Given the description of an element on the screen output the (x, y) to click on. 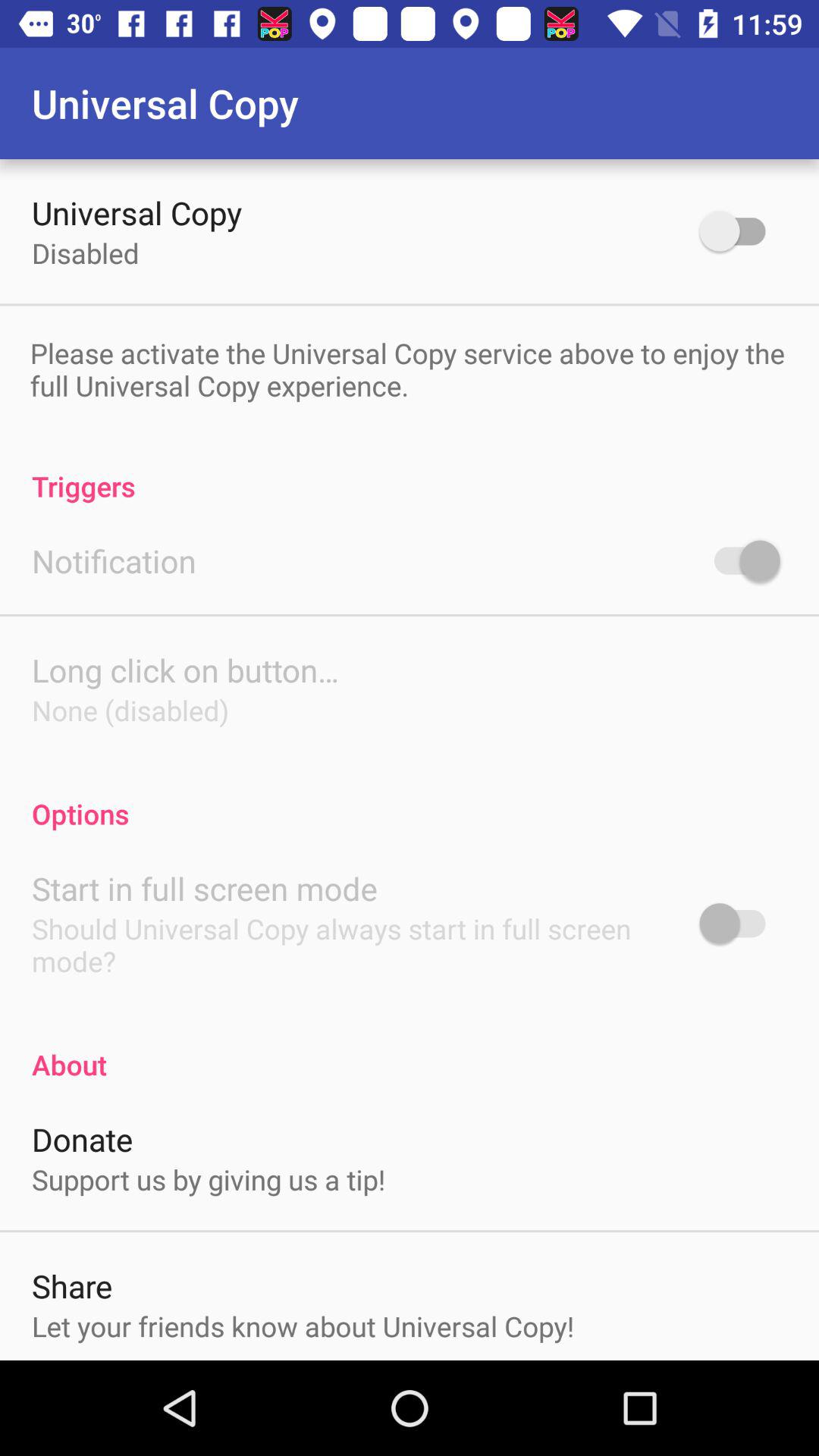
tap item above long click on icon (113, 560)
